Given the description of an element on the screen output the (x, y) to click on. 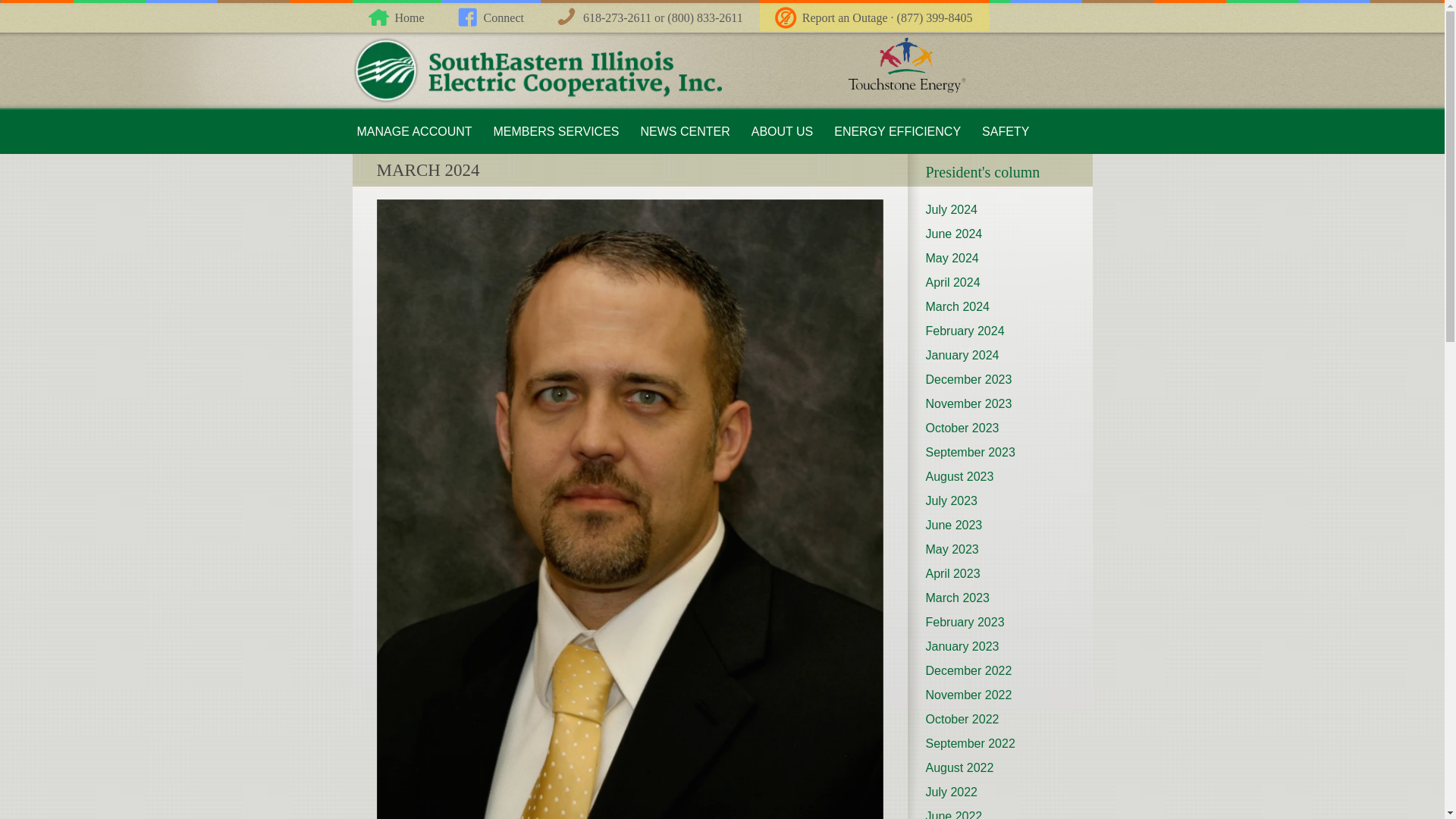
MANAGE ACCOUNT (413, 131)
ABOUT US (782, 131)
MEMBERS SERVICES (556, 131)
Connect (490, 17)
NEWS CENTER (684, 131)
Home (396, 17)
